Given the description of an element on the screen output the (x, y) to click on. 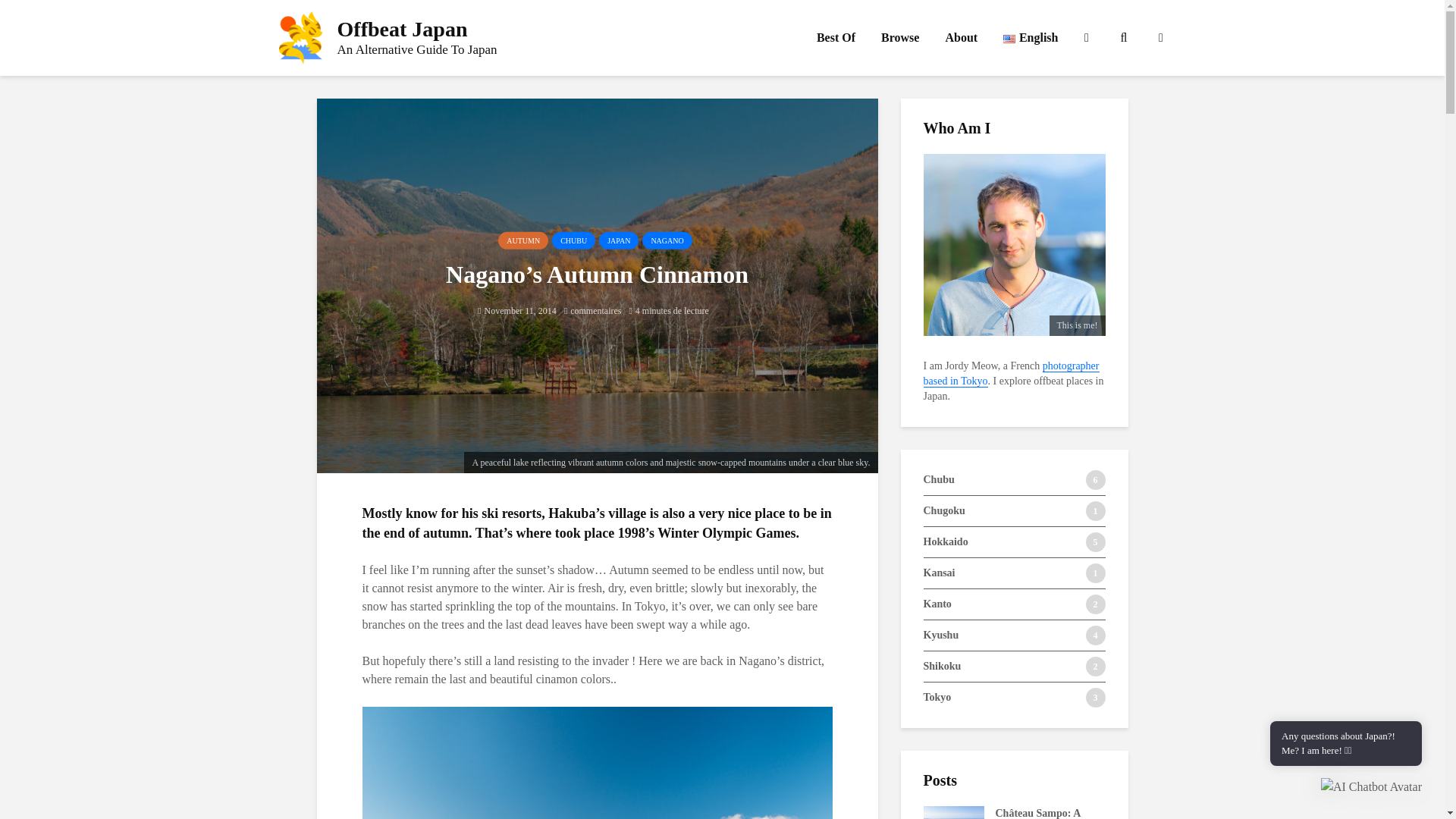
Best Of (835, 37)
Browse (388, 37)
